Given the description of an element on the screen output the (x, y) to click on. 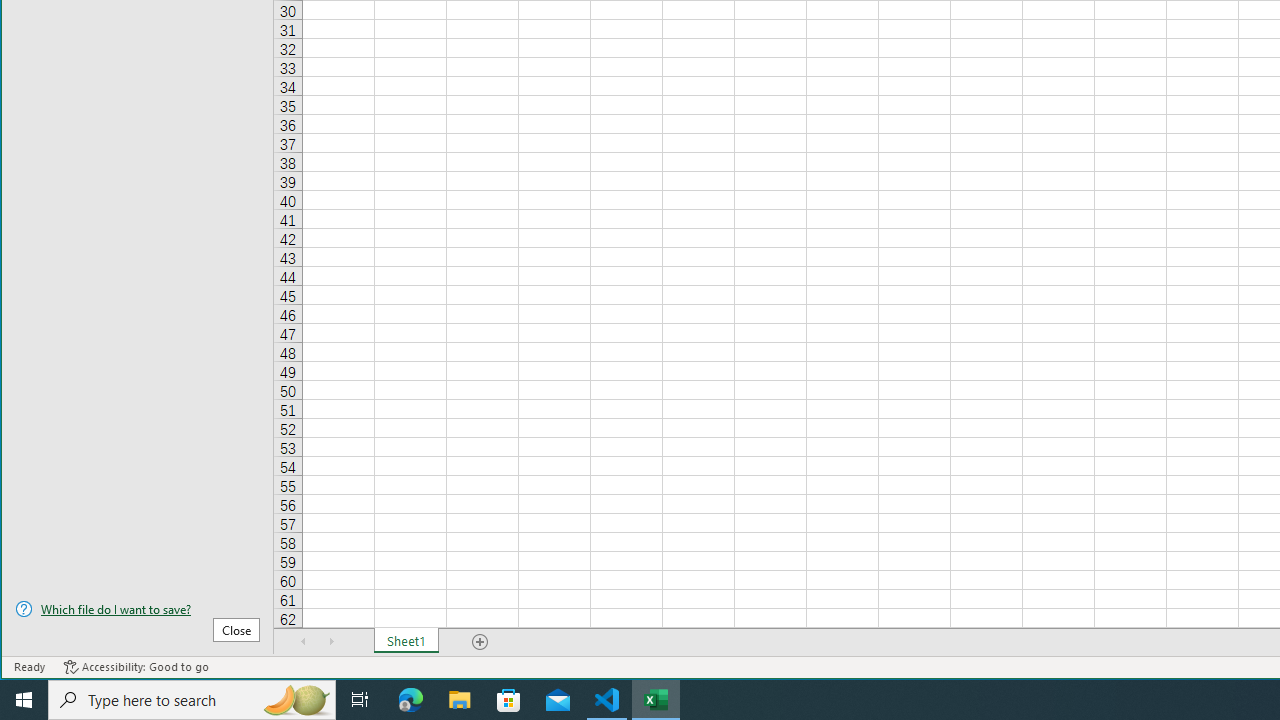
Type here to search (191, 699)
